Given the description of an element on the screen output the (x, y) to click on. 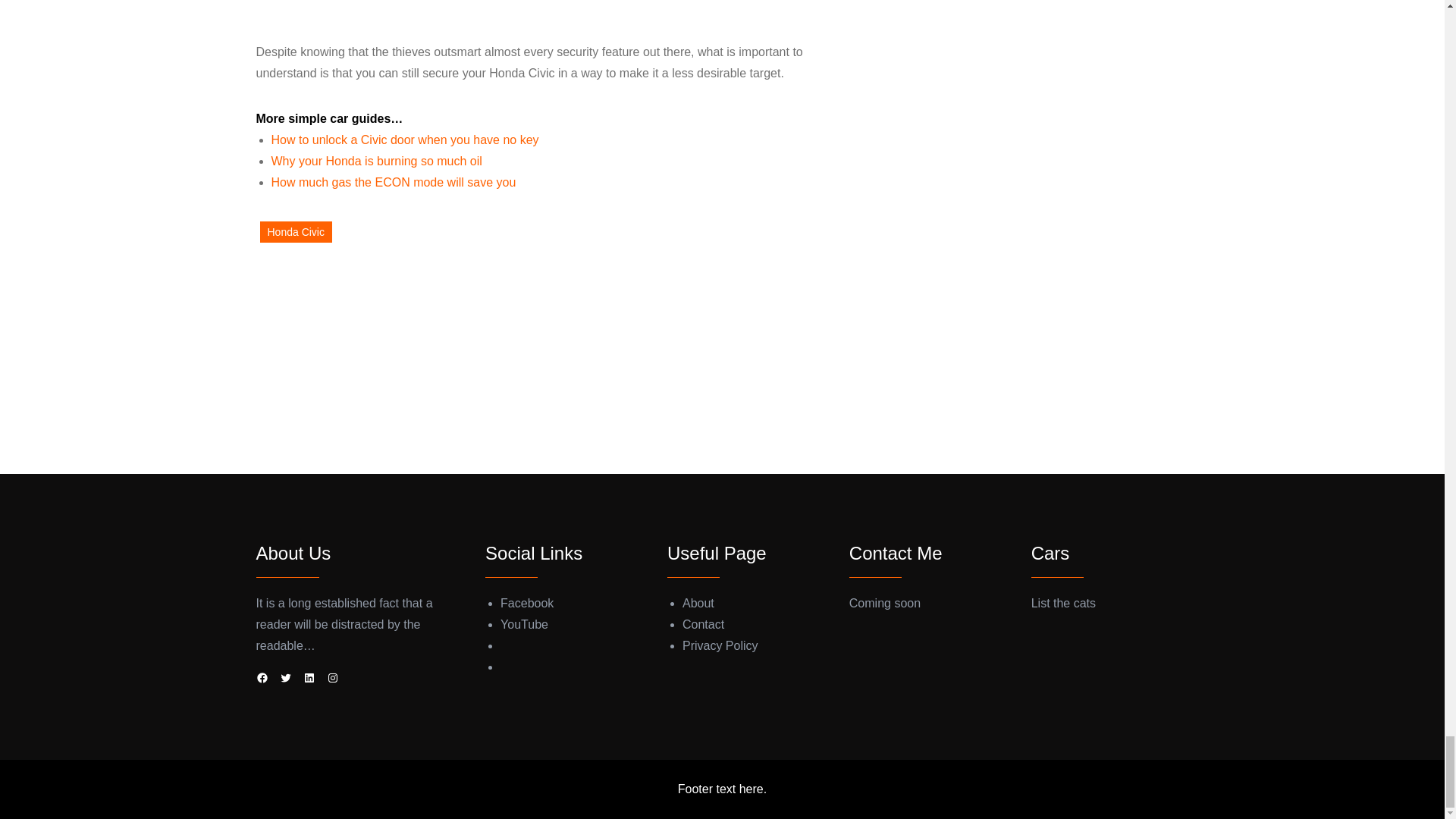
Why your Honda is burning so much oil (375, 160)
Honda Civic (295, 232)
How to unlock a Civic door when you have no key (404, 139)
How much gas the ECON mode will save you (393, 182)
